Given the description of an element on the screen output the (x, y) to click on. 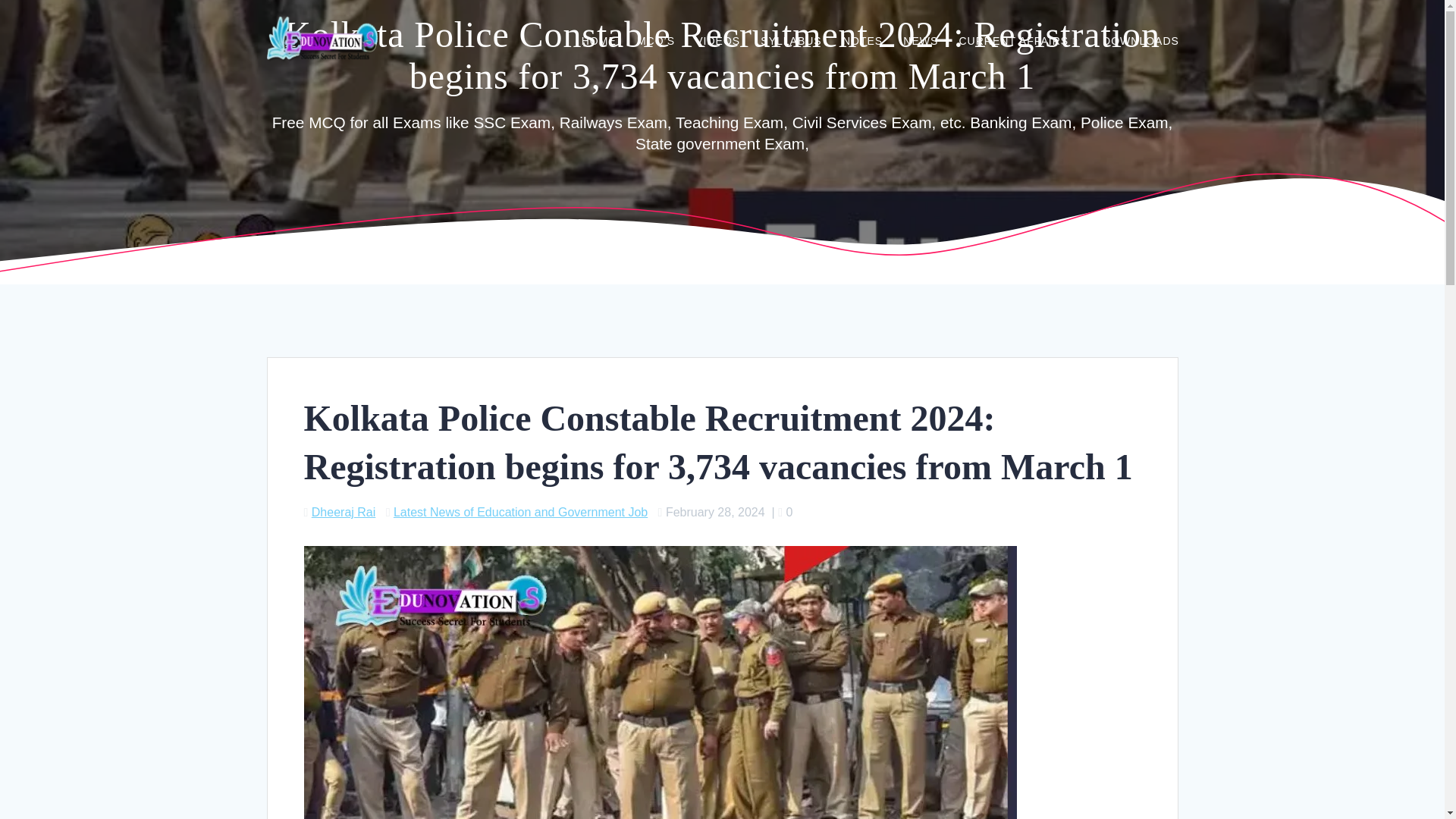
DOWNLOADS (1140, 41)
Dheeraj Rai (343, 512)
NOTES (862, 41)
HOME (597, 41)
SYLLABUS (790, 41)
CURRENT AFFAIRS (1019, 41)
Posts by Dheeraj Rai (343, 512)
NEWS (919, 41)
Latest News of Education and Government Job (520, 512)
VIDEOS (717, 41)
